Given the description of an element on the screen output the (x, y) to click on. 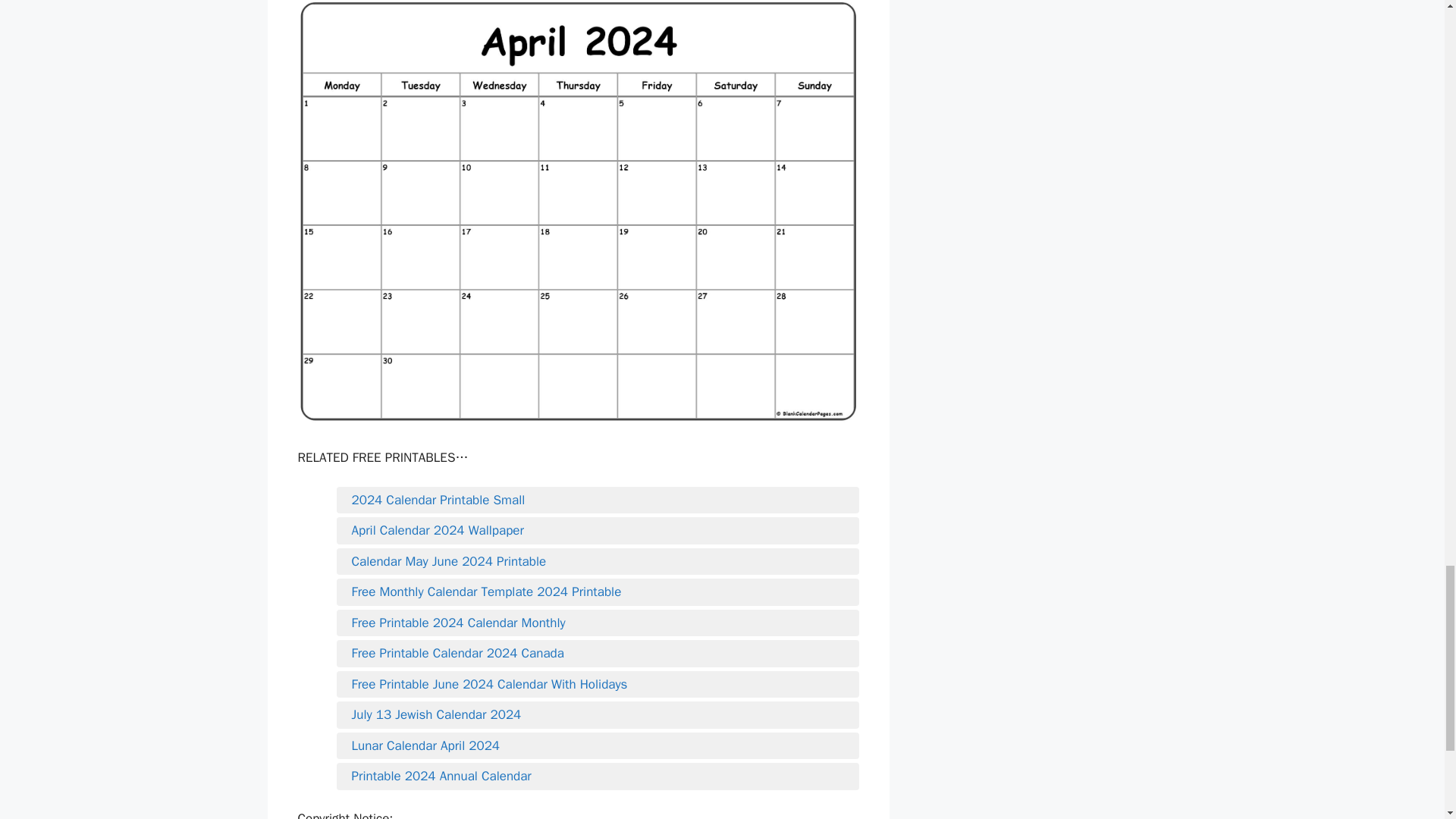
Free Printable Calendar 2024 Canada (597, 653)
April Calendar 2024 Wallpaper (597, 530)
Calendar May June 2024 Printable (597, 561)
Free Printable 2024 Calendar Monthly (597, 622)
Printable 2024 Annual Calendar (597, 775)
Lunar Calendar April 2024 (597, 745)
July 13 Jewish Calendar 2024 (597, 714)
Free Monthly Calendar Template 2024 Printable (597, 591)
Free Printable June 2024 Calendar With Holidays (597, 684)
2024 Calendar Printable Small (597, 499)
